Given the description of an element on the screen output the (x, y) to click on. 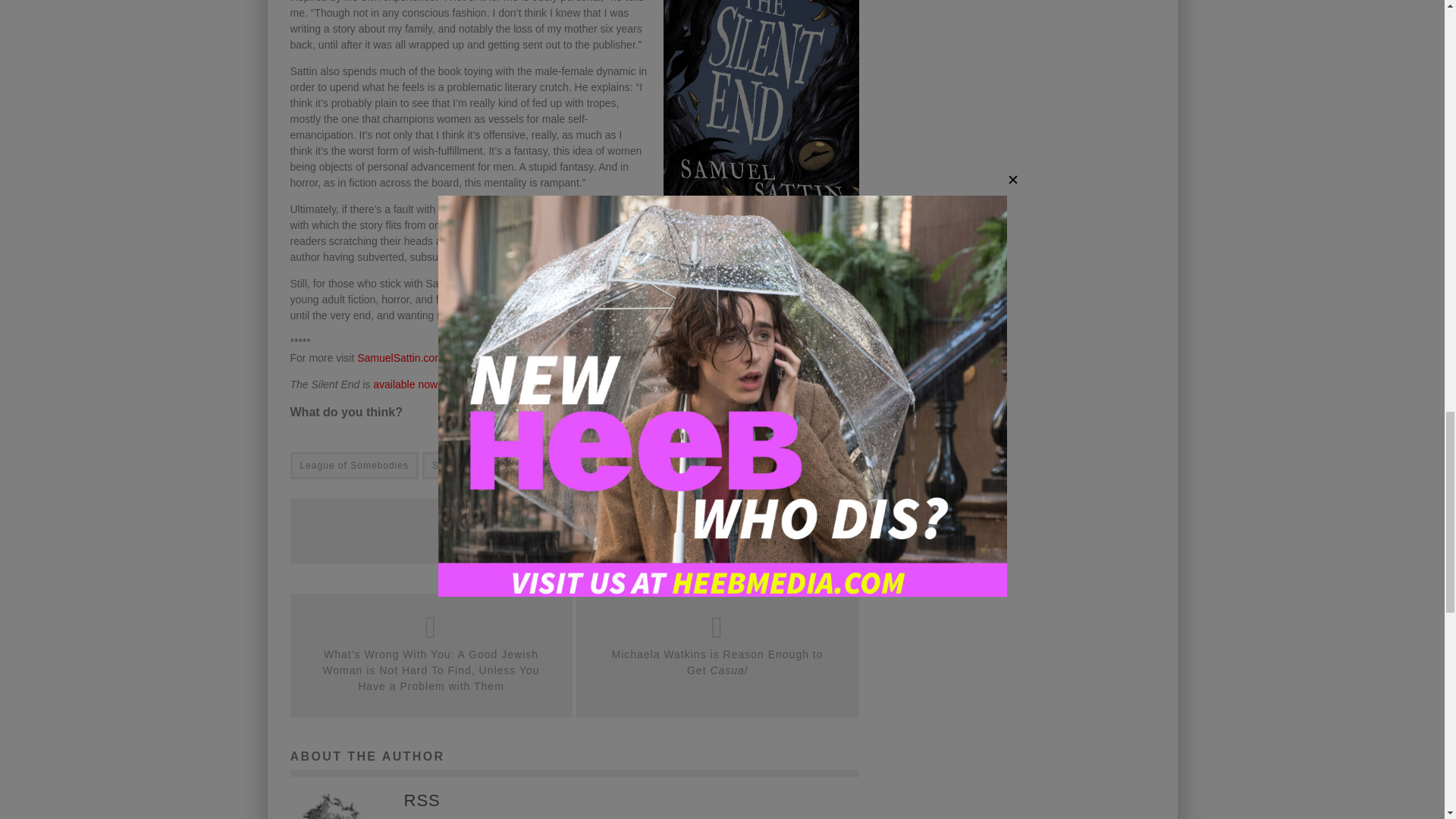
Tweet (644, 532)
Samuel Sattin (465, 465)
League of Somebodies (353, 465)
Michaela Watkins is Reason Enough to Get Casual (717, 662)
available now (404, 384)
the silent end (554, 465)
SamuelSattin.com (400, 357)
Ragnarok Publications (520, 384)
